Given the description of an element on the screen output the (x, y) to click on. 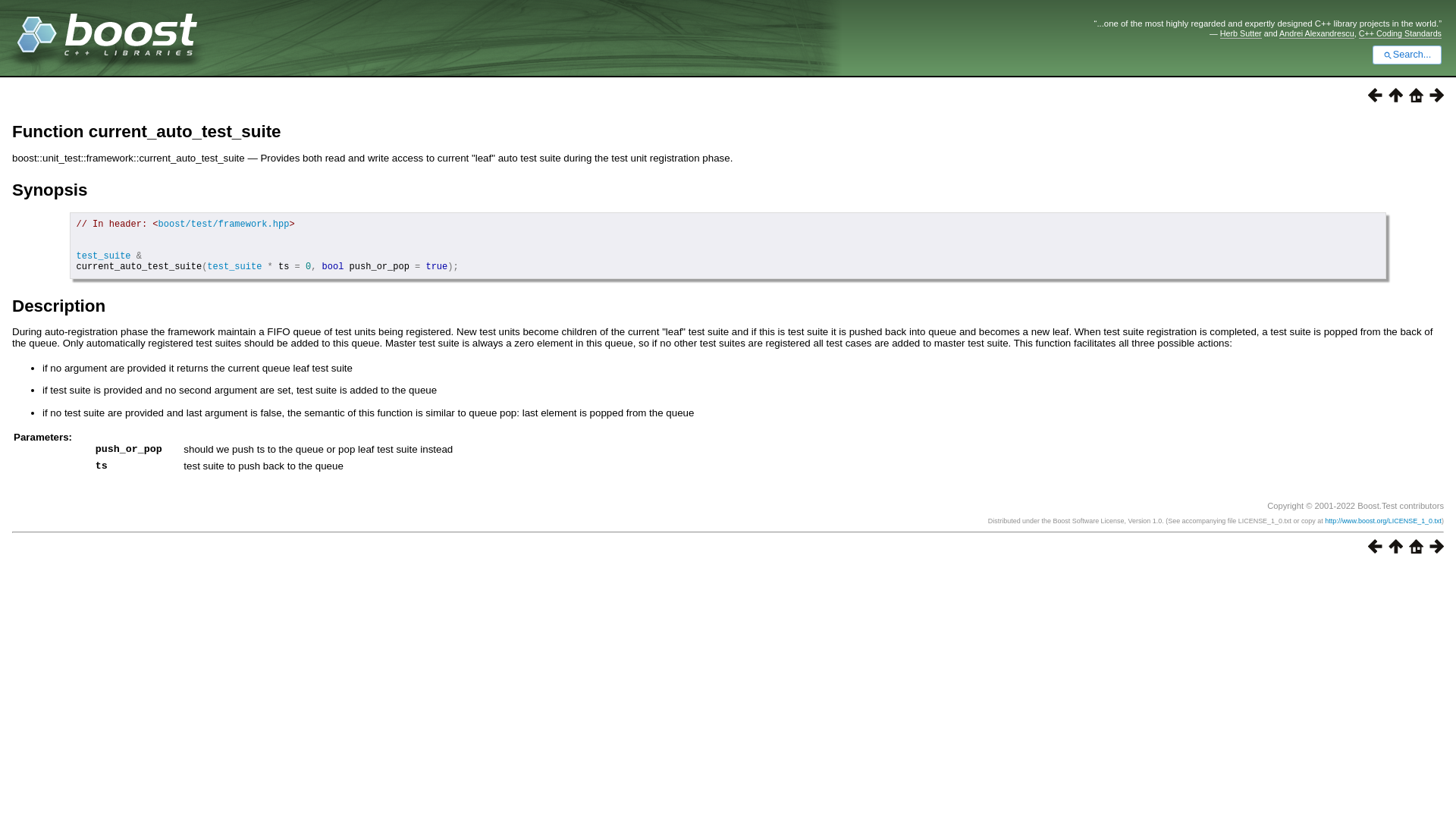
Herb Sutter (1241, 33)
Andrei Alexandrescu (1316, 33)
Search... (1407, 54)
